Given the description of an element on the screen output the (x, y) to click on. 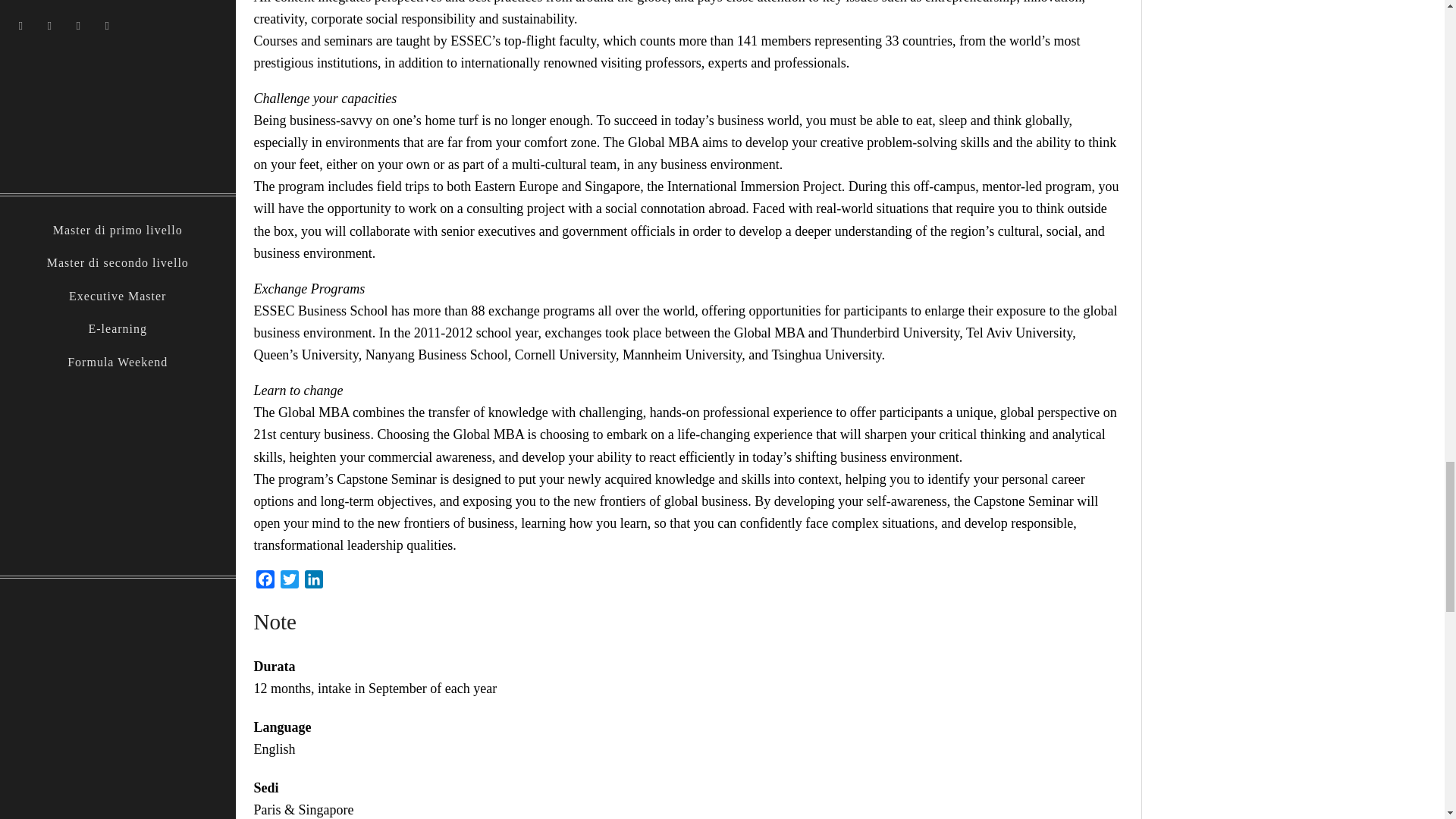
LinkedIn (313, 581)
Twitter (289, 581)
Facebook (265, 581)
